Given the description of an element on the screen output the (x, y) to click on. 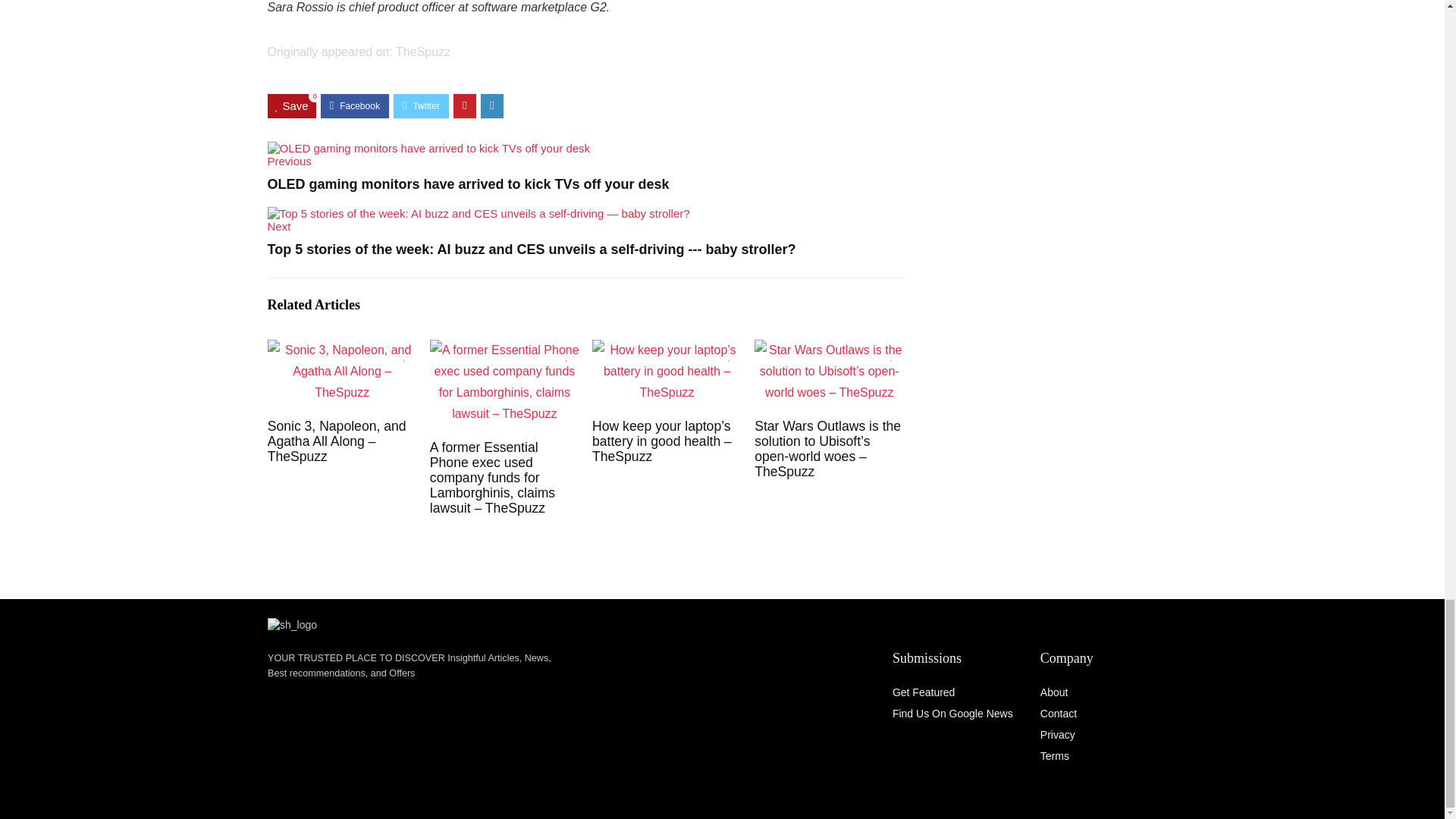
Terms (1054, 756)
TheSpuzz (422, 51)
Get Featured (923, 692)
Find Us On Google News (952, 713)
Contact (1059, 713)
Privacy (1058, 734)
OLED gaming monitors have arrived to kick TVs off your desk (427, 147)
About (1054, 692)
